Given the description of an element on the screen output the (x, y) to click on. 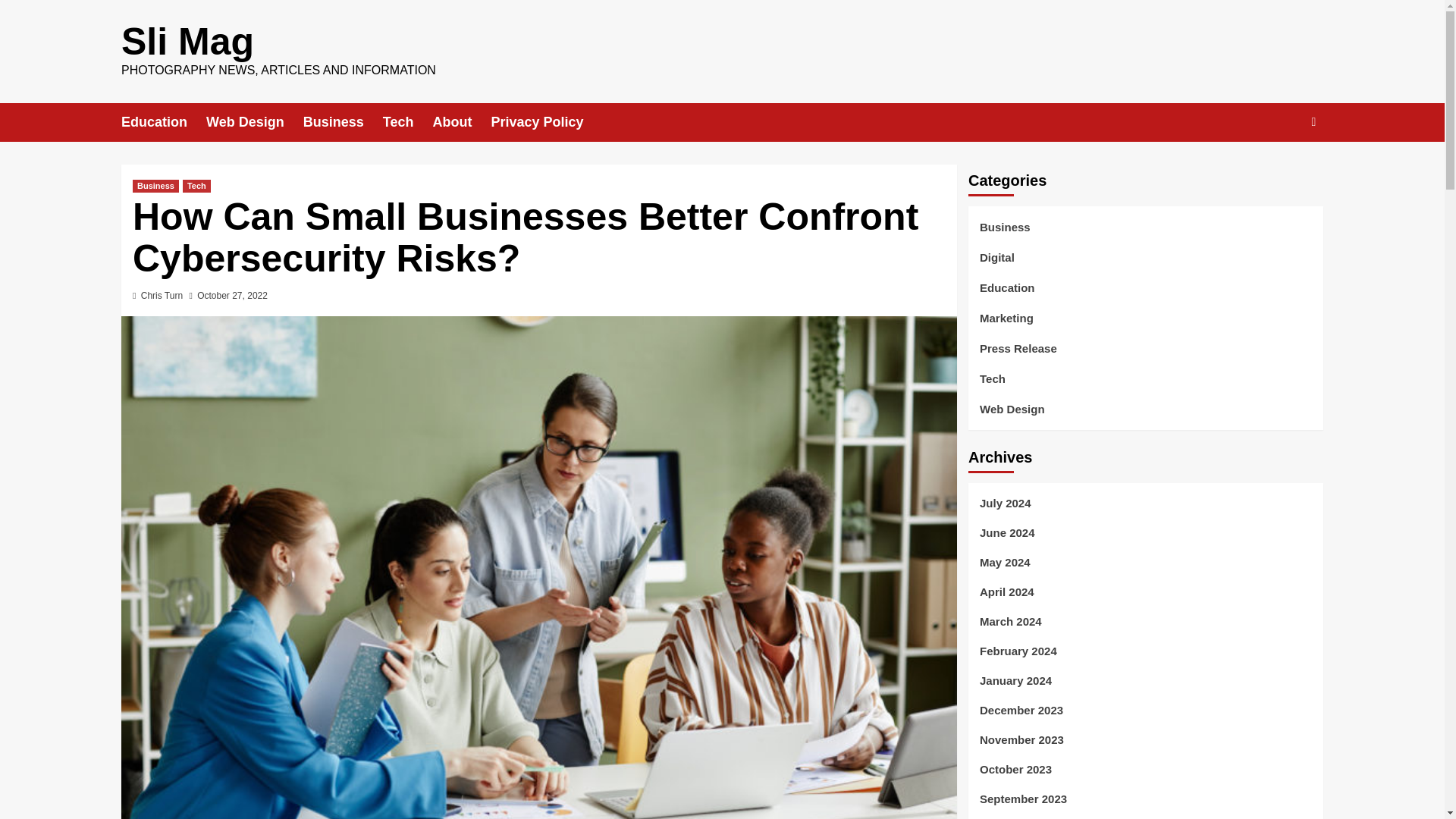
Chris Turn (162, 295)
Privacy Policy (546, 122)
Business (1004, 233)
About (461, 122)
Digital (996, 263)
Web Design (254, 122)
October 27, 2022 (231, 295)
Education (163, 122)
Sli Mag (186, 41)
Business (342, 122)
Business (155, 185)
Tech (197, 185)
Tech (407, 122)
Search (1278, 168)
